Given the description of an element on the screen output the (x, y) to click on. 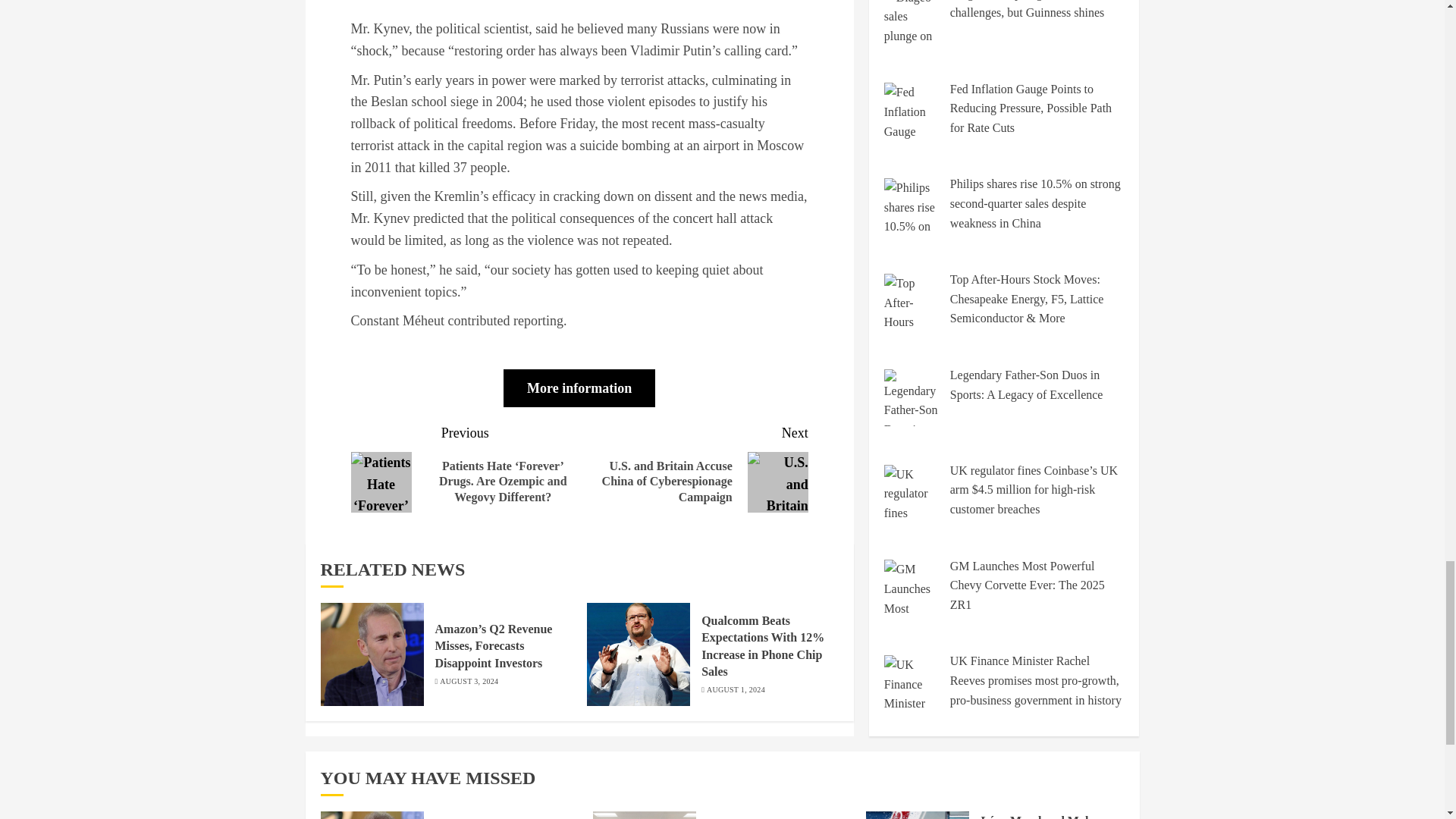
AUGUST 1, 2024 (735, 689)
More information (579, 388)
AUGUST 3, 2024 (468, 681)
U.S. and Britain Accuse China of Cyberespionage Campaign (778, 482)
